Given the description of an element on the screen output the (x, y) to click on. 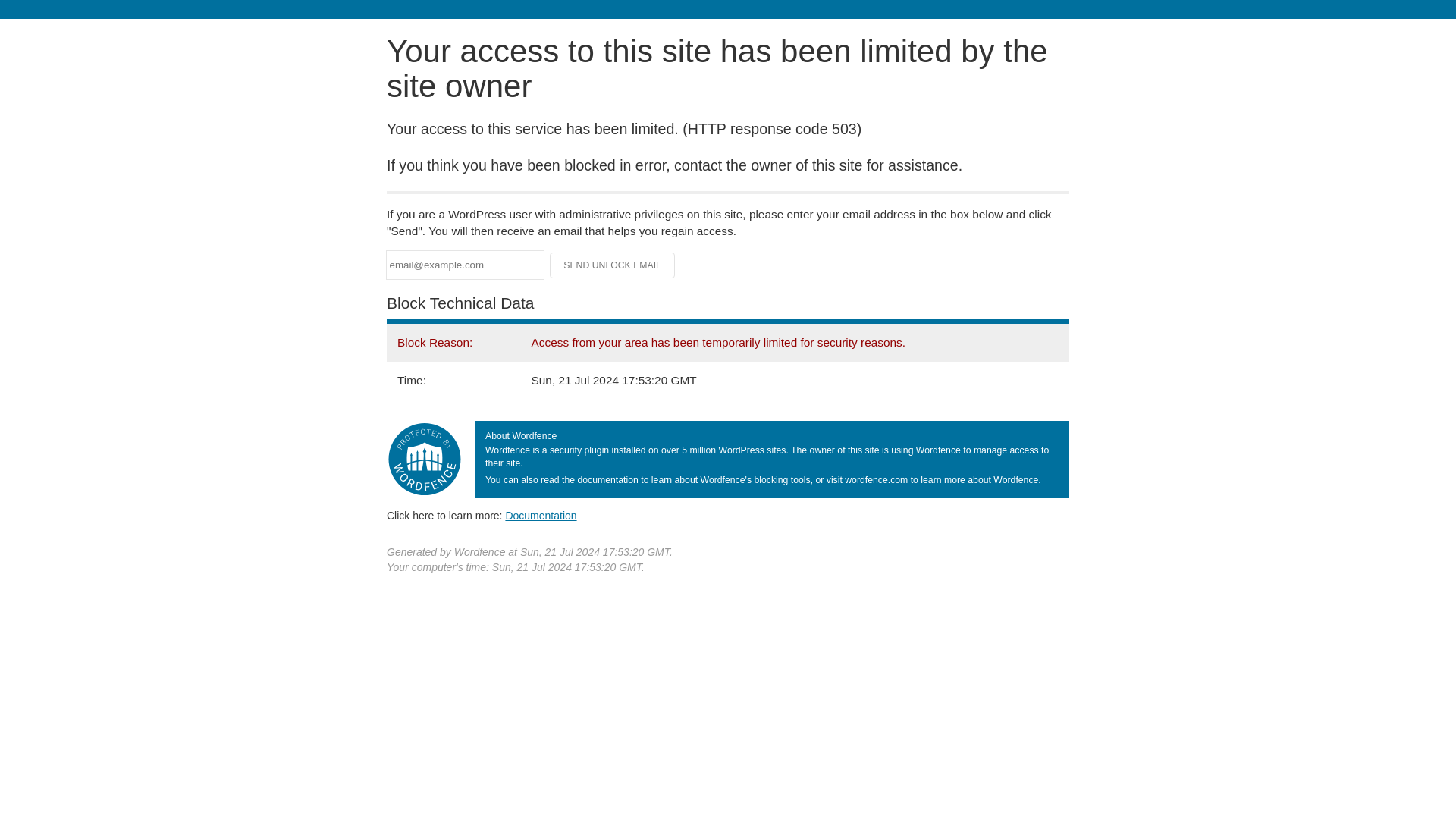
Send Unlock Email (612, 265)
Send Unlock Email (612, 265)
Documentation (540, 515)
